Given the description of an element on the screen output the (x, y) to click on. 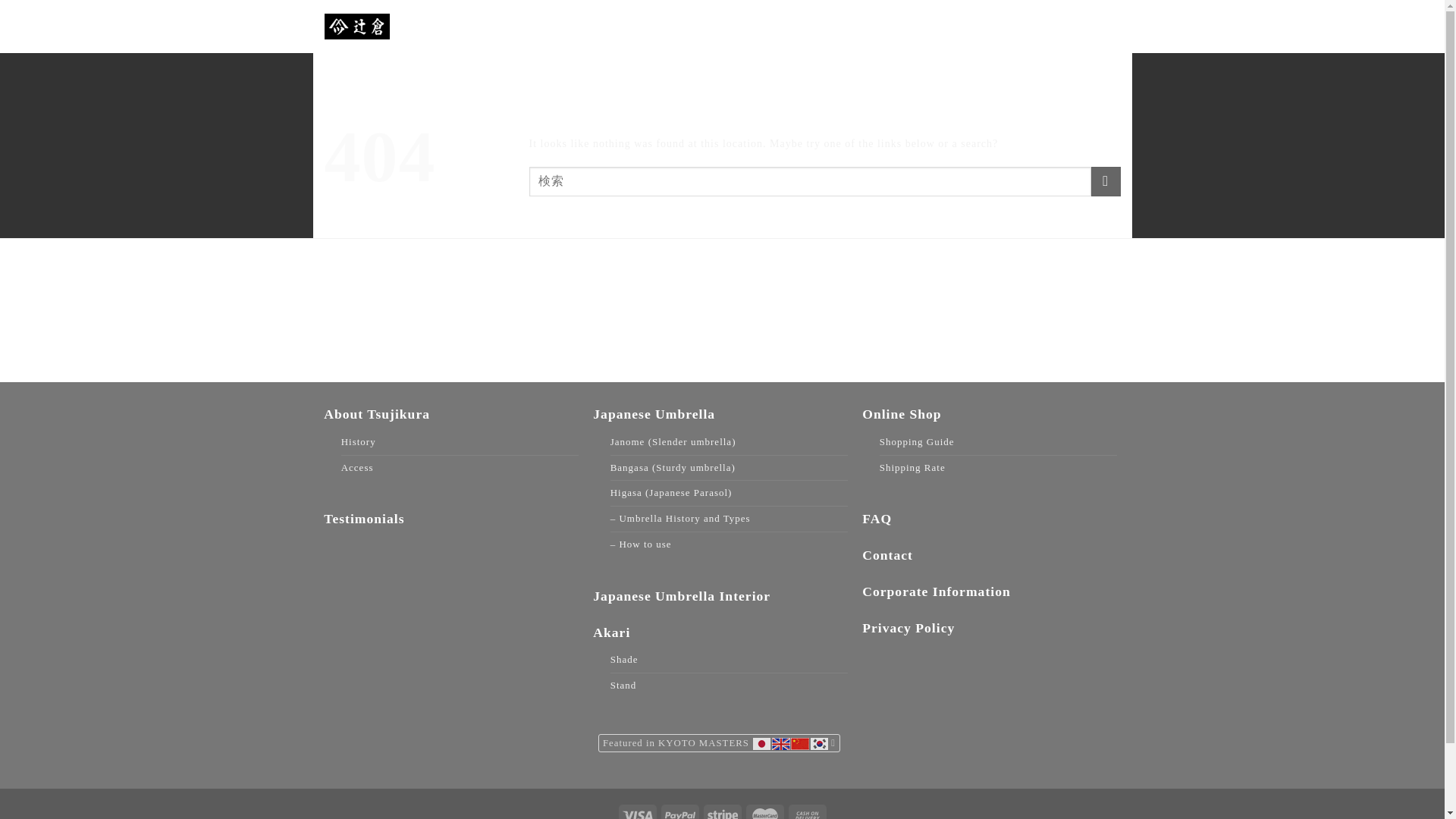
Japanese Umbrella (682, 16)
About Tsujikura (555, 16)
History (357, 442)
Online Shop (900, 413)
Testimonials (363, 518)
Shade (624, 659)
Shopping Guide (917, 442)
Cart (1091, 16)
Japanese Umbrella Interior (681, 595)
FAQ (876, 518)
Privacy Policy (908, 627)
Stand (623, 685)
Home (459, 16)
Access (357, 467)
Access (853, 16)
